Given the description of an element on the screen output the (x, y) to click on. 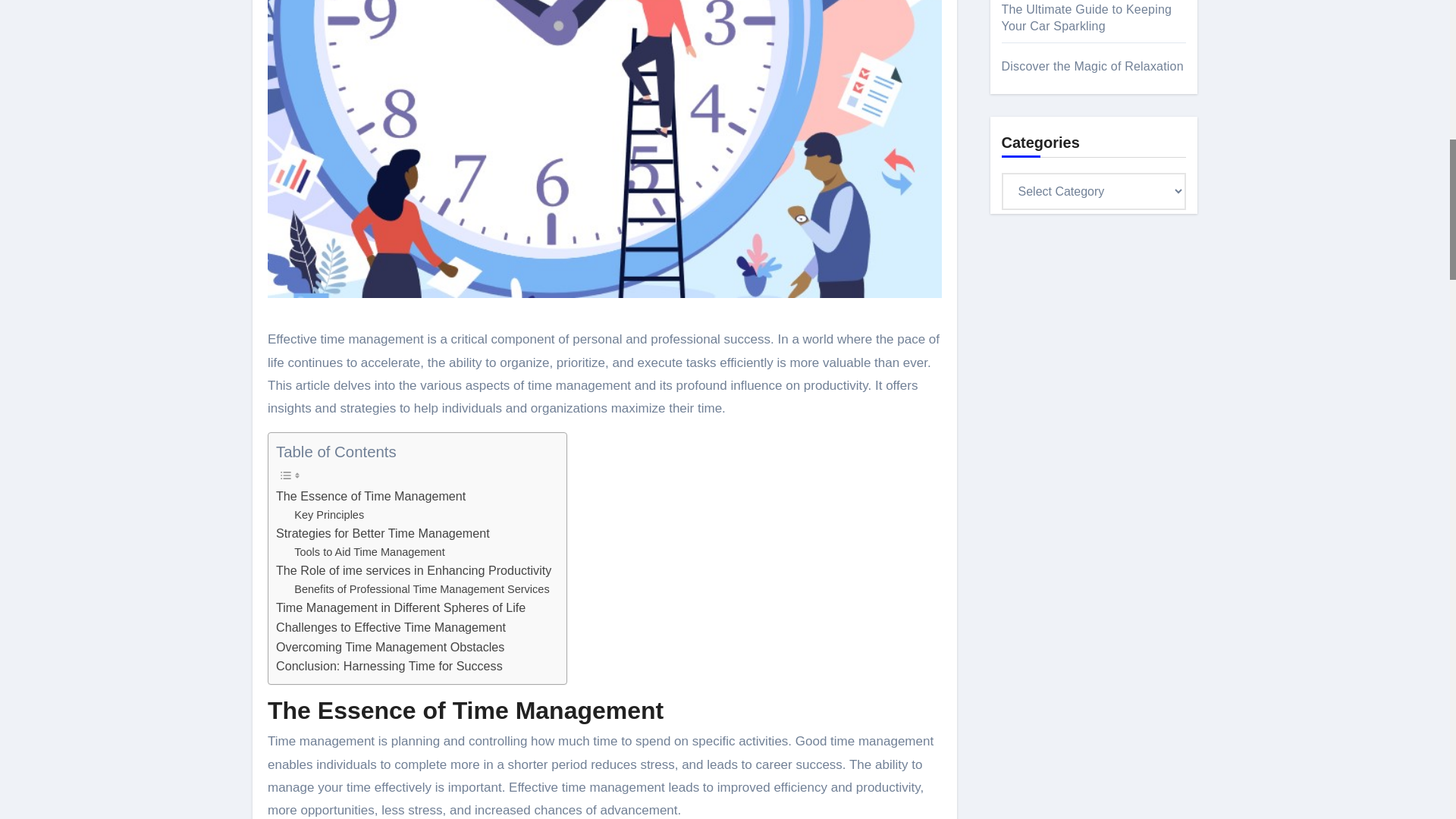
Tools to Aid Time Management (369, 552)
Benefits of Professional Time Management Services (421, 589)
The Role of ime services in Enhancing Productivity (413, 570)
Time Management in Different Spheres of Life (400, 608)
Tools to Aid Time Management (369, 552)
The Essence of Time Management (370, 496)
Overcoming Time Management Obstacles (389, 647)
Key Principles (329, 515)
Challenges to Effective Time Management (390, 628)
Conclusion: Harnessing Time for Success (389, 666)
